Given the description of an element on the screen output the (x, y) to click on. 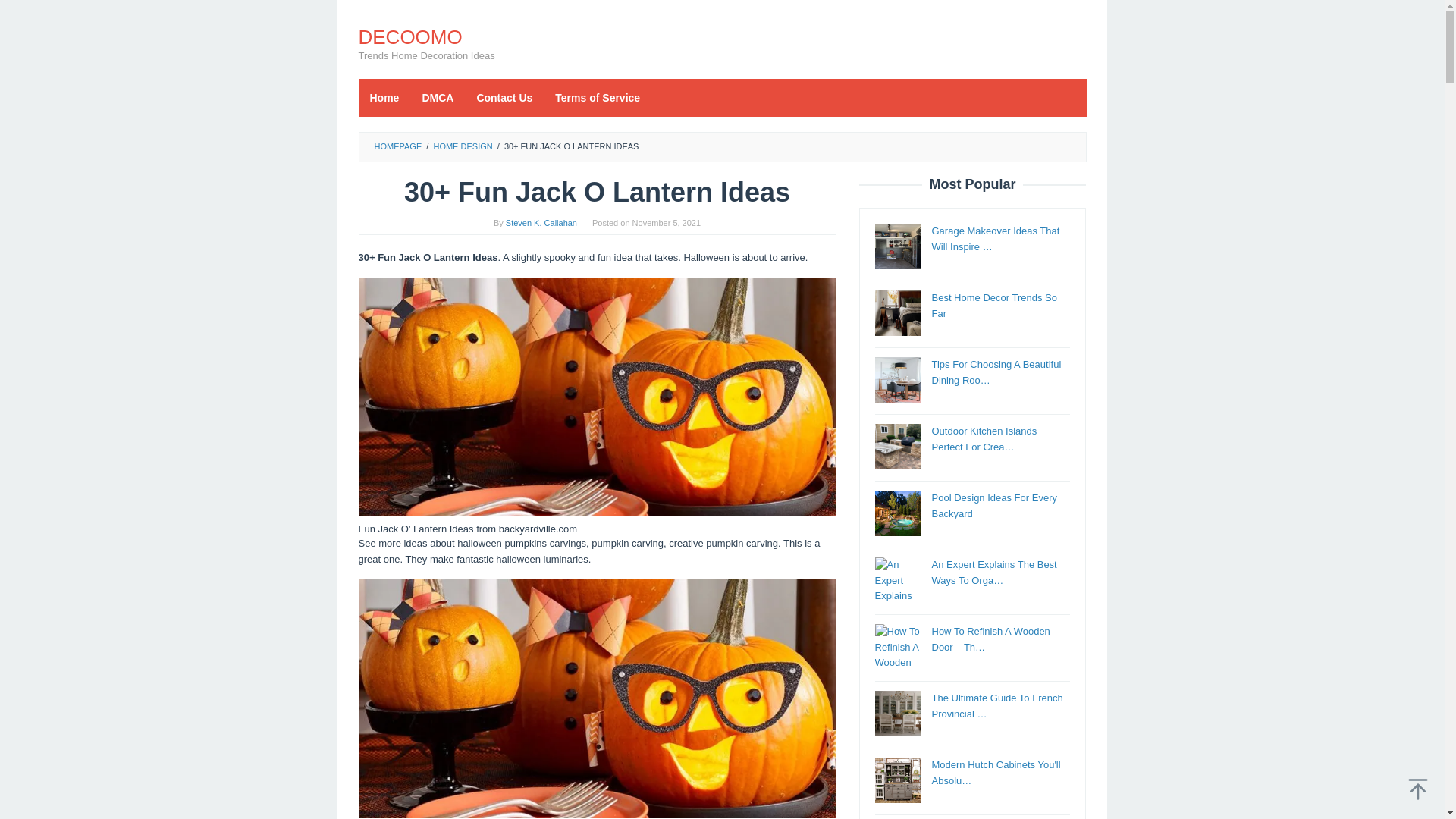
Steven K. Callahan (540, 222)
Contact Us (503, 97)
DECOOMO (409, 36)
Best Home Decor Trends So Far (897, 312)
Garage Makeover Ideas That Will Inspire You To Get Organized (897, 246)
Home (384, 97)
Best Home Decor Trends So Far (994, 305)
DMCA (437, 97)
DECOOMO (409, 36)
HOME DESIGN (462, 145)
Pool Design Ideas For Every Backyard (994, 505)
HOMEPAGE (398, 145)
Permalink to: Steven K. Callahan (540, 222)
Terms of Service (596, 97)
